Given the description of an element on the screen output the (x, y) to click on. 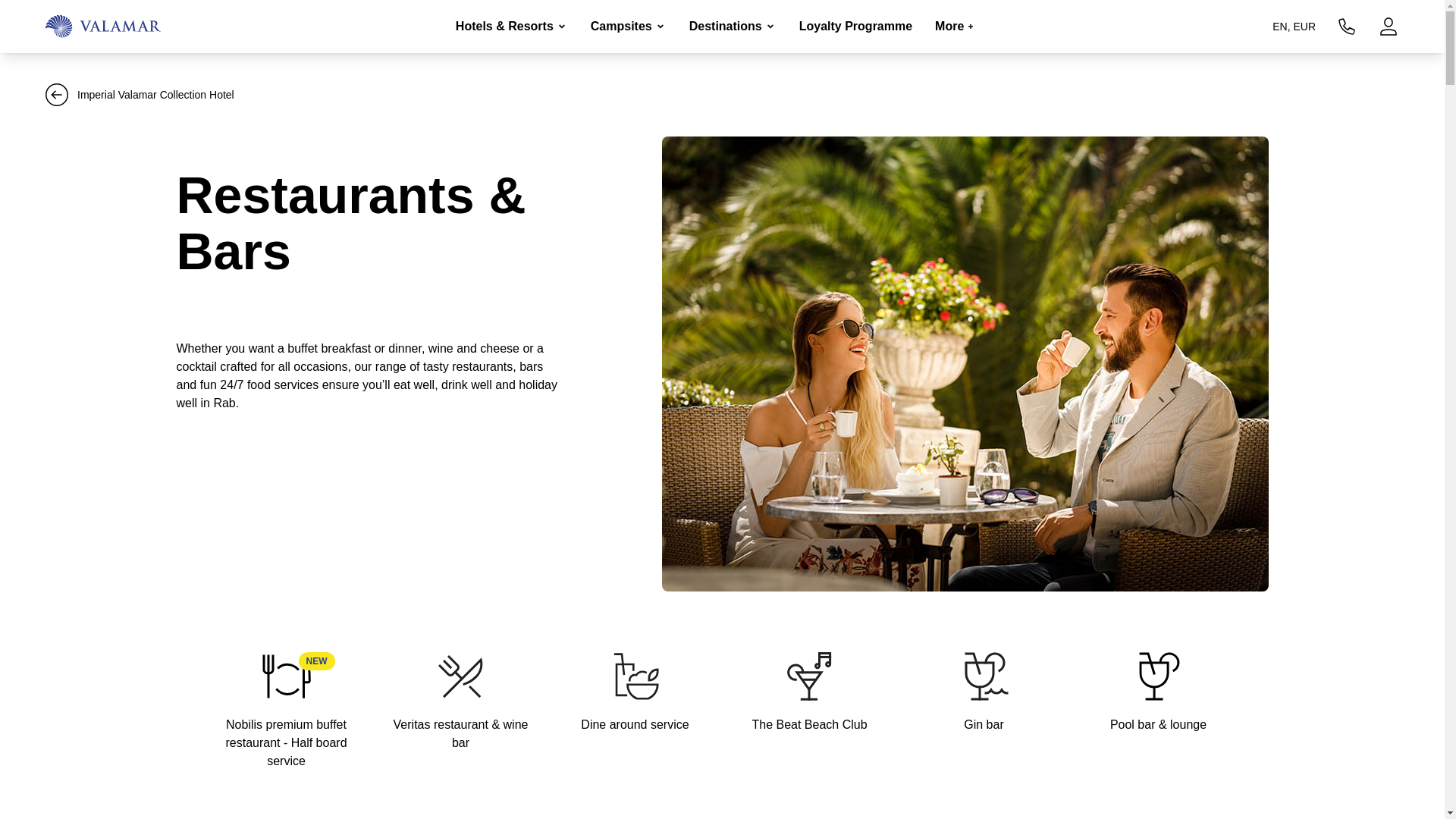
Campsites (628, 27)
Loyalty Programme (855, 26)
Imperial Valamar Collection Hotel (139, 79)
Destinations (732, 27)
EN, EUR (1294, 26)
